Given the description of an element on the screen output the (x, y) to click on. 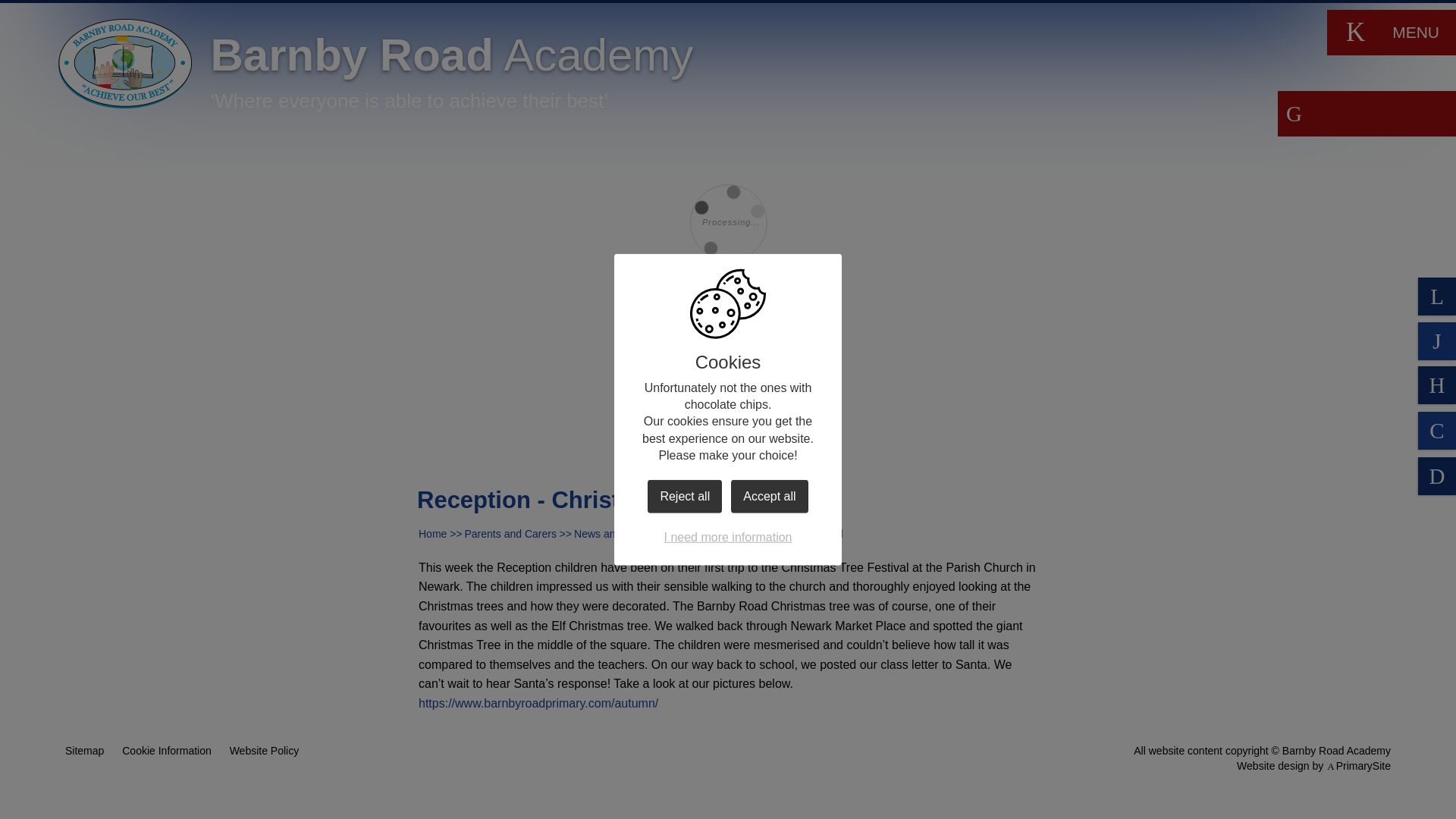
Home Page (125, 63)
